Given the description of an element on the screen output the (x, y) to click on. 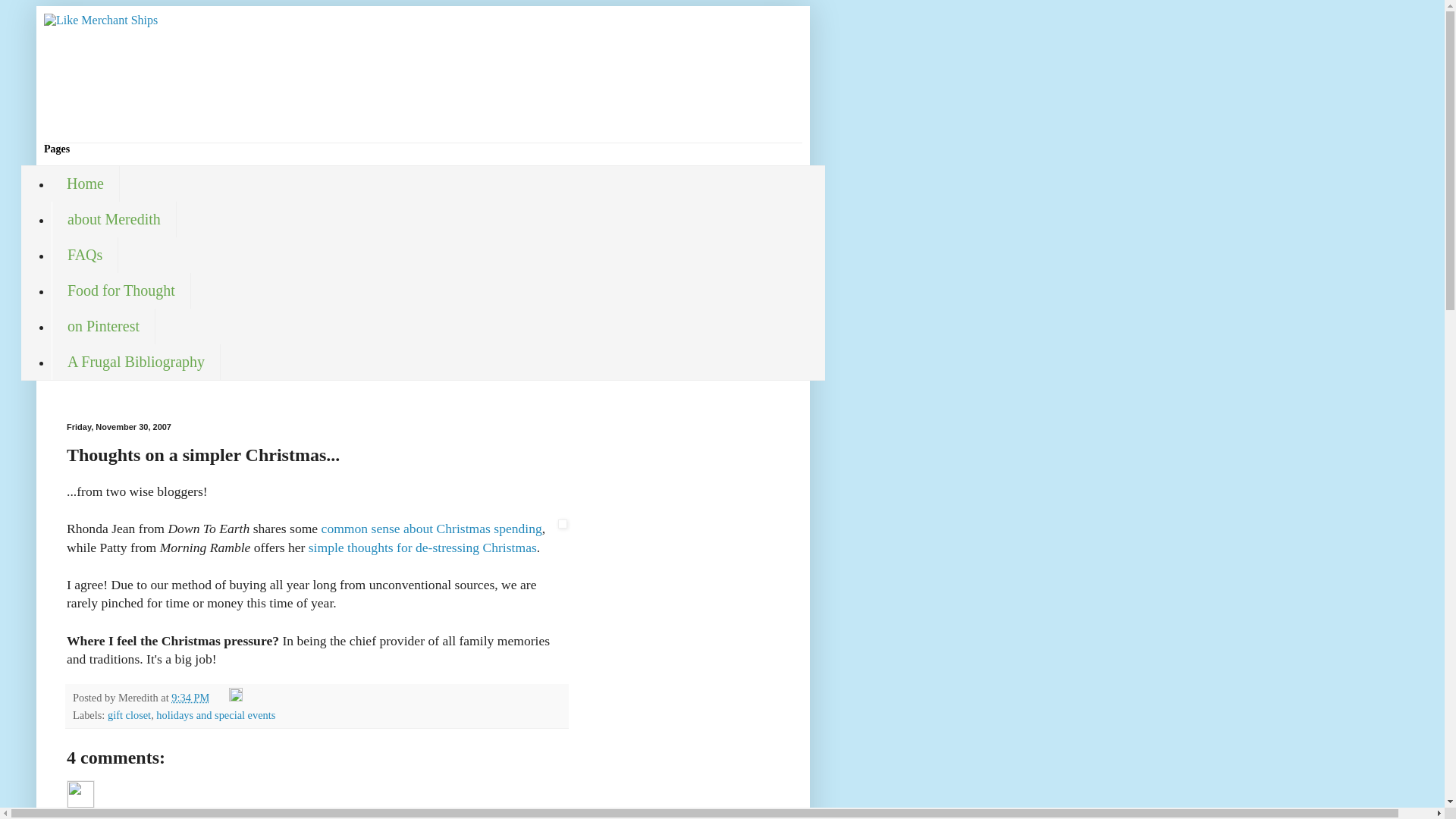
permanent link (190, 697)
Food for Thought (120, 290)
Home (84, 183)
on Pinterest (102, 325)
Edit Post (235, 697)
common sense about Christmas spending (431, 528)
A Frugal Bibliography (135, 361)
9:34 PM (190, 697)
FAQs (83, 254)
holidays and special events (215, 715)
